Given the description of an element on the screen output the (x, y) to click on. 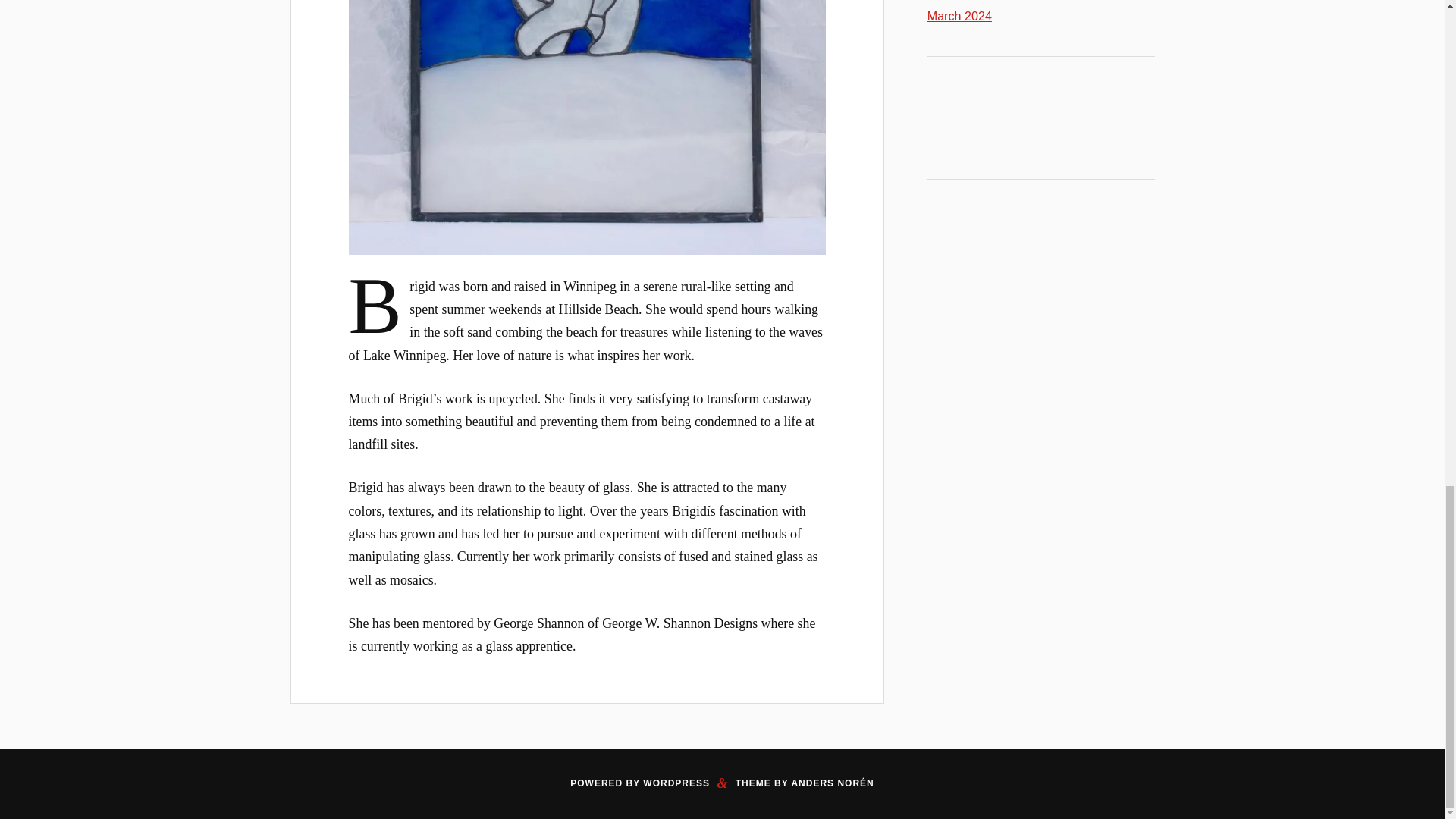
WORDPRESS (676, 783)
March 2024 (959, 15)
